Given the description of an element on the screen output the (x, y) to click on. 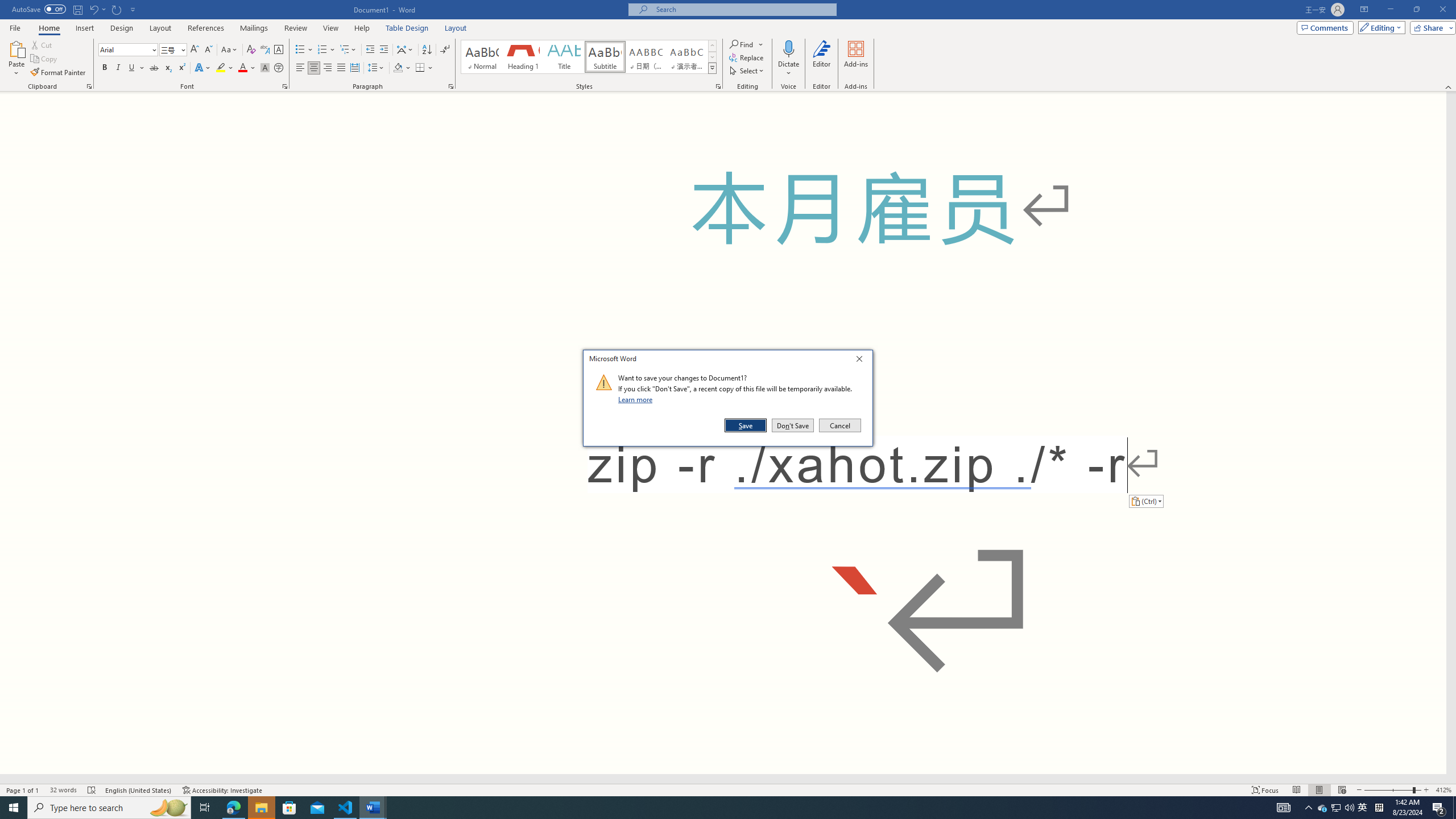
Justify (340, 67)
Copy (45, 58)
Mailings (253, 28)
Text Highlight Color Yellow (220, 67)
Subscript (167, 67)
Font... (285, 85)
AutoSave (1322, 807)
Type here to search (38, 9)
Q2790: 100% (108, 807)
